Given the description of an element on the screen output the (x, y) to click on. 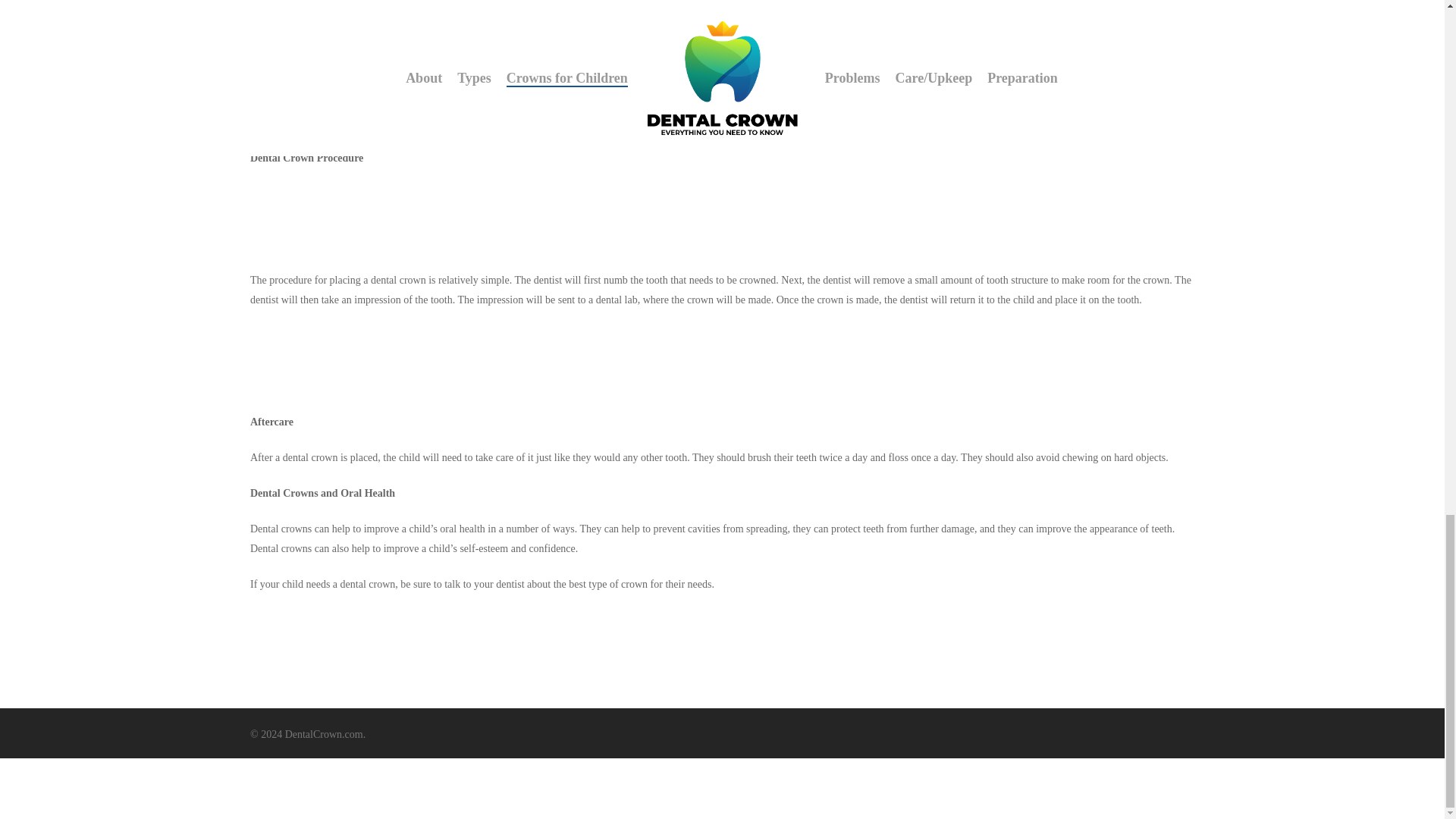
Advertisement (721, 666)
Advertisement (734, 53)
Advertisement (721, 788)
Advertisement (721, 218)
Advertisement (721, 359)
